Given the description of an element on the screen output the (x, y) to click on. 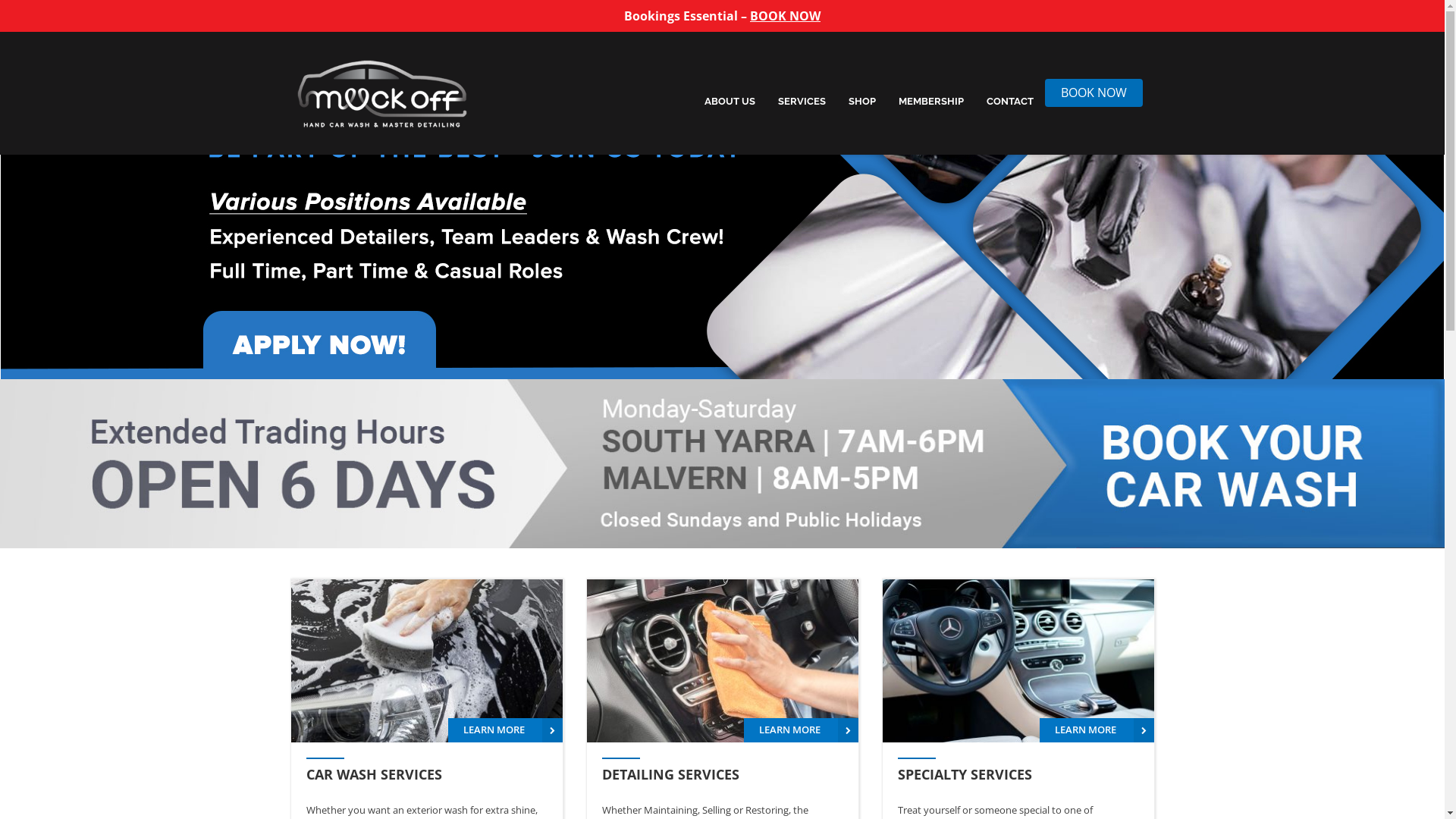
SERVICES Element type: text (800, 101)
CONTACT Element type: text (1009, 101)
CAR WASH SERVICES Element type: text (426, 773)
DETAILING SERVICES Element type: text (722, 773)
BOOK NOW Element type: text (1093, 92)
BOOK NOW Element type: text (784, 15)
LEARN MORE Element type: text (800, 730)
LEARN MORE Element type: text (504, 730)
MEMBERSHIP Element type: text (931, 101)
MUCKOFF-Banner Element type: hover (722, 463)
recruitment-banner Element type: hover (721, 189)
ABOUT US Element type: text (729, 101)
SHOP Element type: text (862, 101)
LEARN MORE Element type: text (1095, 730)
SPECIALTY SERVICES Element type: text (1018, 773)
